Given the description of an element on the screen output the (x, y) to click on. 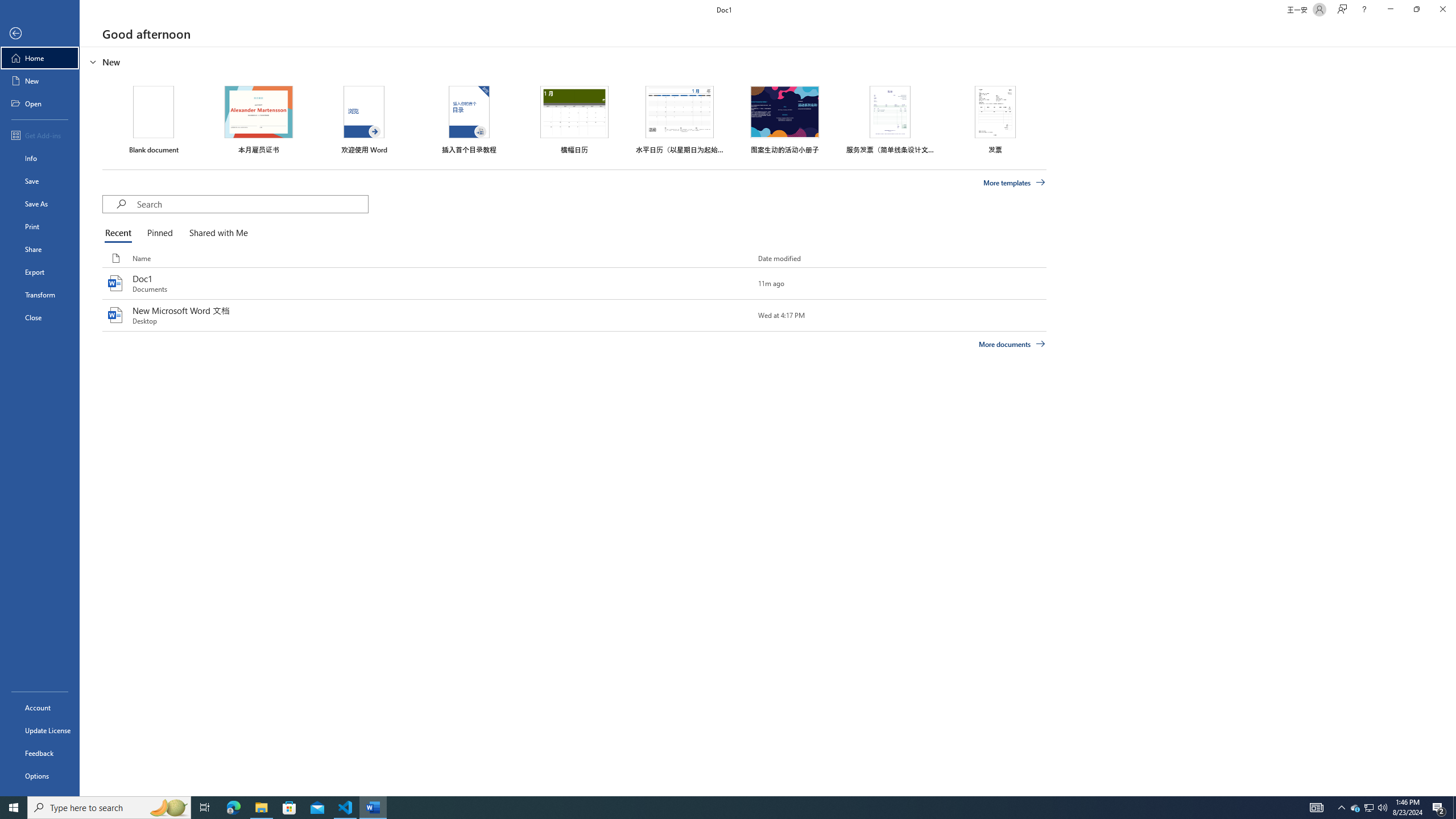
Pin this item to the list (739, 314)
Get Add-ins (40, 134)
New (40, 80)
Info (40, 157)
Hide or show region (92, 61)
Transform (40, 294)
Update License (40, 730)
Save As (40, 203)
Doc1 (573, 283)
